Given the description of an element on the screen output the (x, y) to click on. 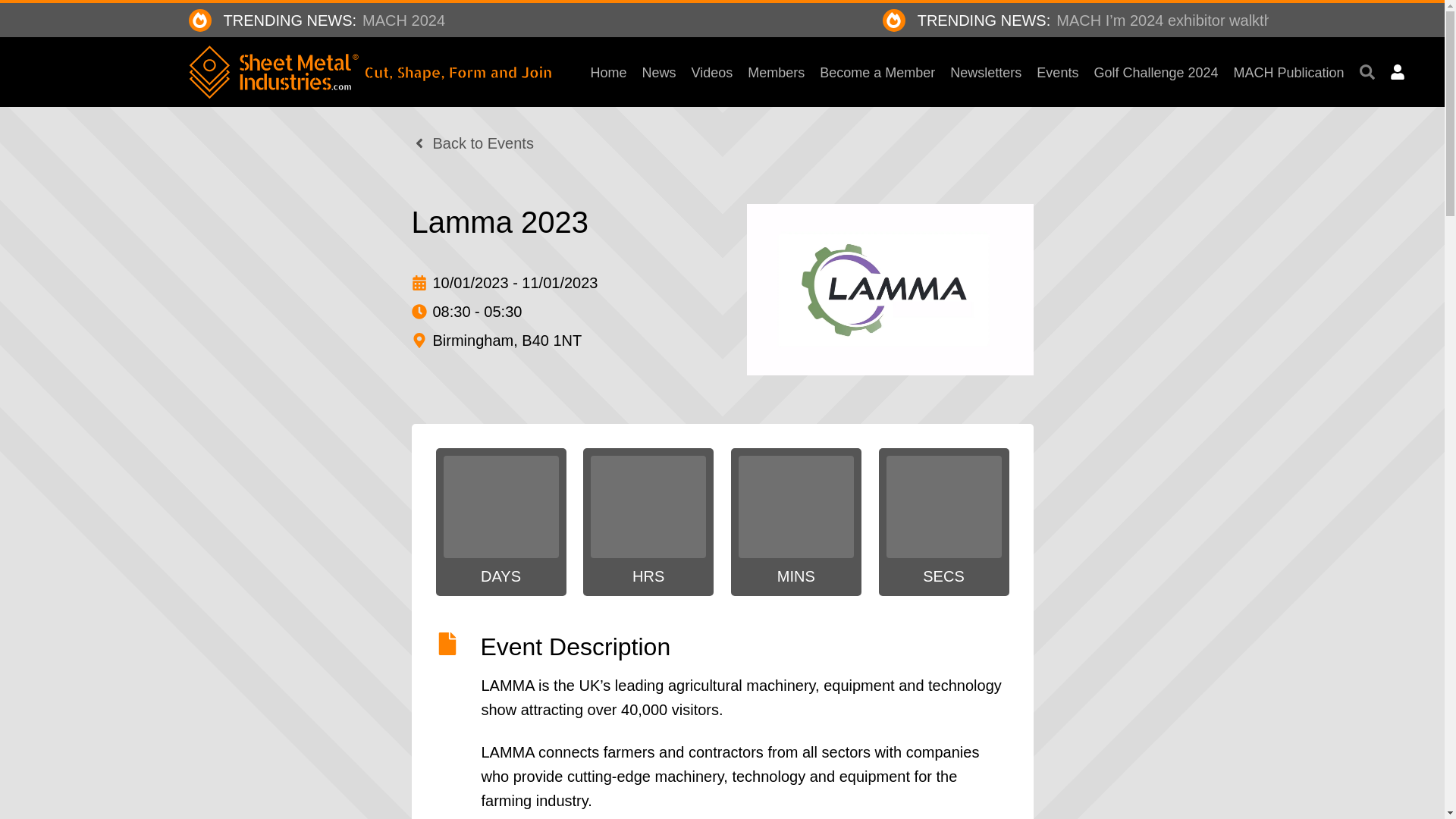
Members (776, 71)
About (1168, 20)
Contact (1224, 20)
Policies (1111, 20)
Videos (712, 71)
Become a Member (534, 19)
News (876, 71)
Skip to main content (659, 71)
MACH Publication (11, 48)
